Given the description of an element on the screen output the (x, y) to click on. 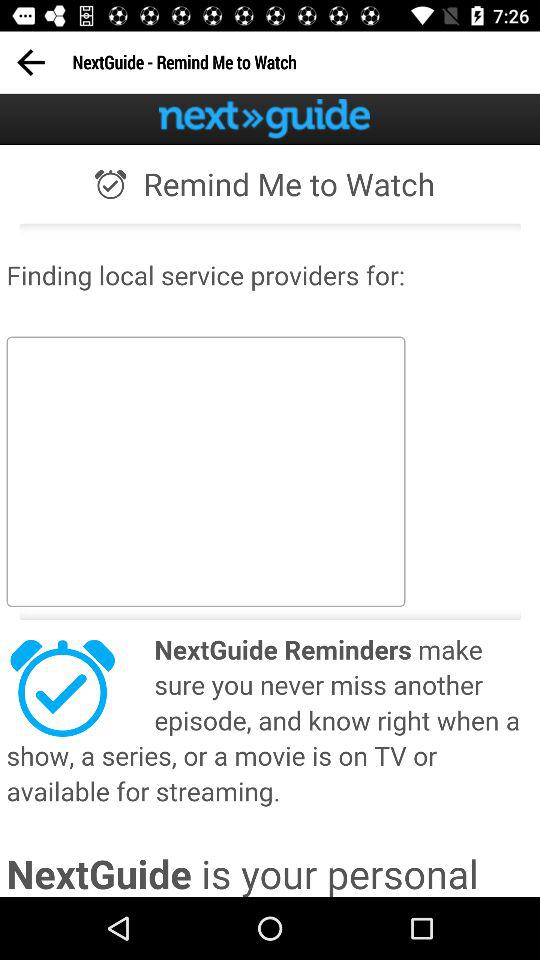
previous button (30, 62)
